Given the description of an element on the screen output the (x, y) to click on. 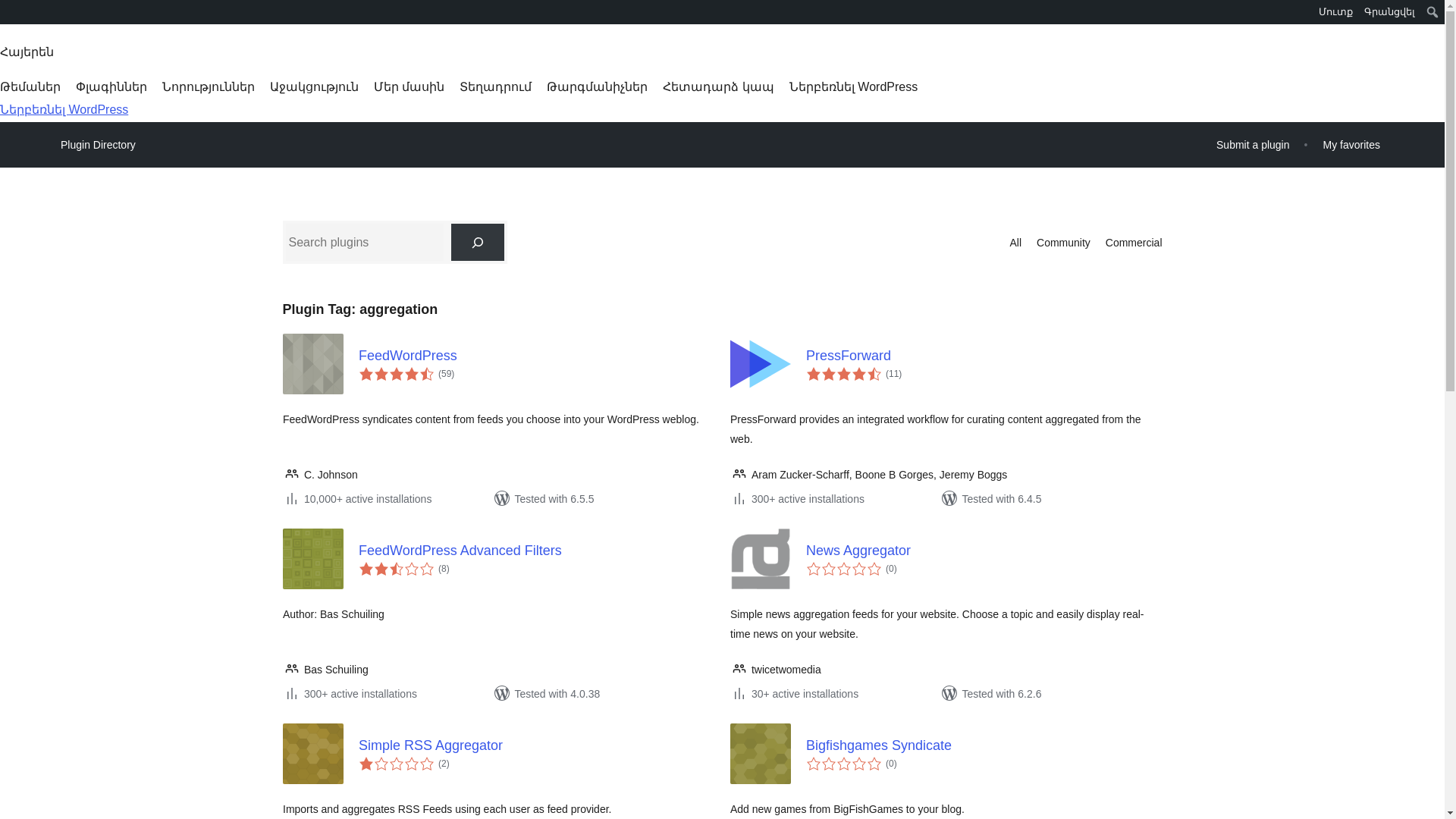
PressForward (983, 355)
Simple RSS Aggregator (536, 745)
Bigfishgames Syndicate (983, 745)
News Aggregator (983, 550)
Commercial (1133, 242)
Submit a plugin (1253, 144)
Community (1063, 242)
WordPress.org (10, 10)
My favorites (1351, 144)
FeedWordPress Advanced Filters (536, 550)
